Given the description of an element on the screen output the (x, y) to click on. 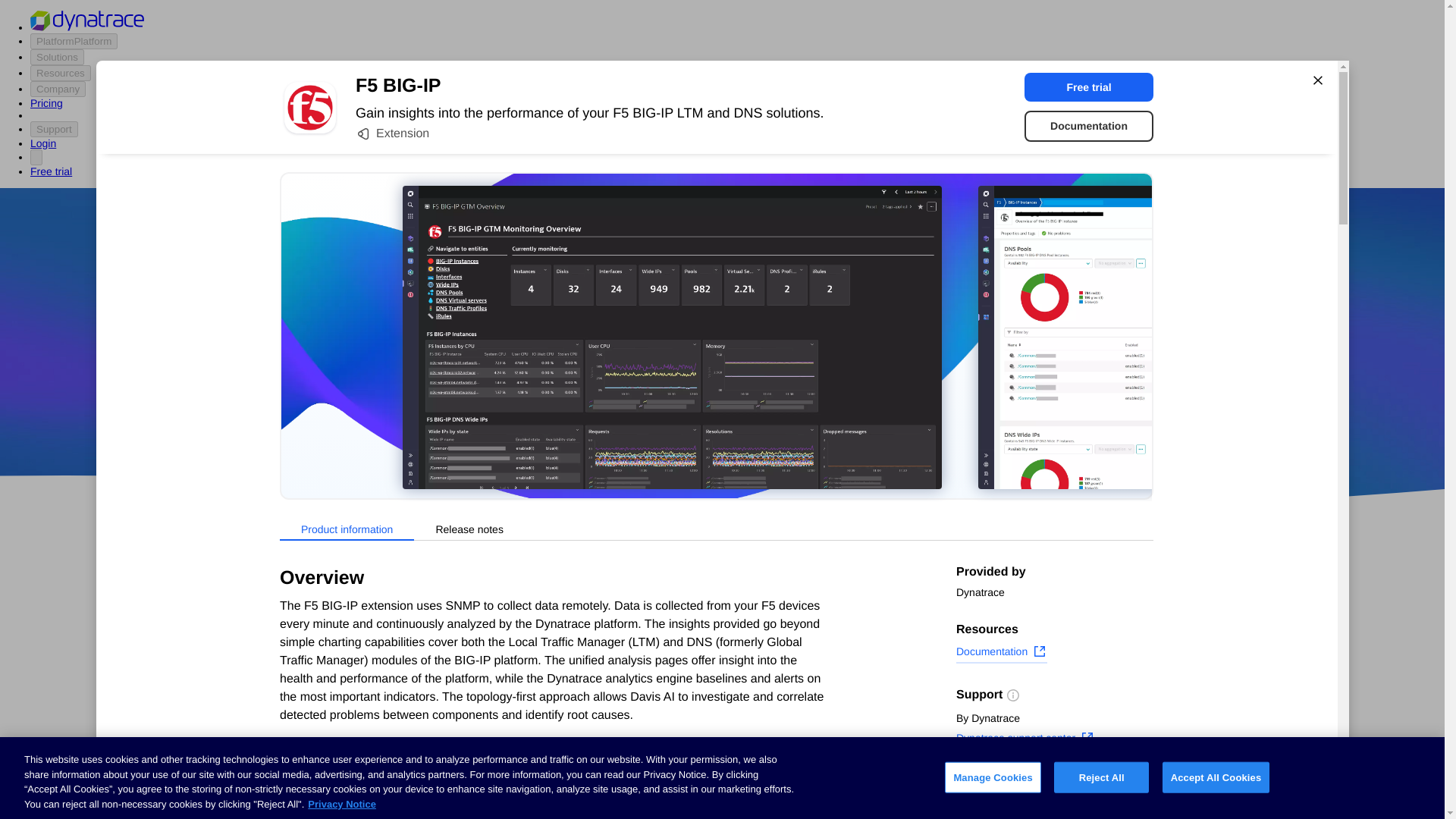
Documentation (1001, 653)
DevOps (829, 418)
Dynatrace support center (1025, 740)
 certificate ssl synthetic test (607, 793)
AWS (637, 418)
Google Cloud (751, 418)
Free trial (1089, 86)
Azure (681, 418)
Open source (903, 418)
Copy page link (1003, 806)
Documentation (1089, 125)
360performance (840, 375)
Subscribe to new releases (1054, 782)
Advanced SSL Certificate Check for Dynatrace (606, 731)
360performance (840, 375)
